Given the description of an element on the screen output the (x, y) to click on. 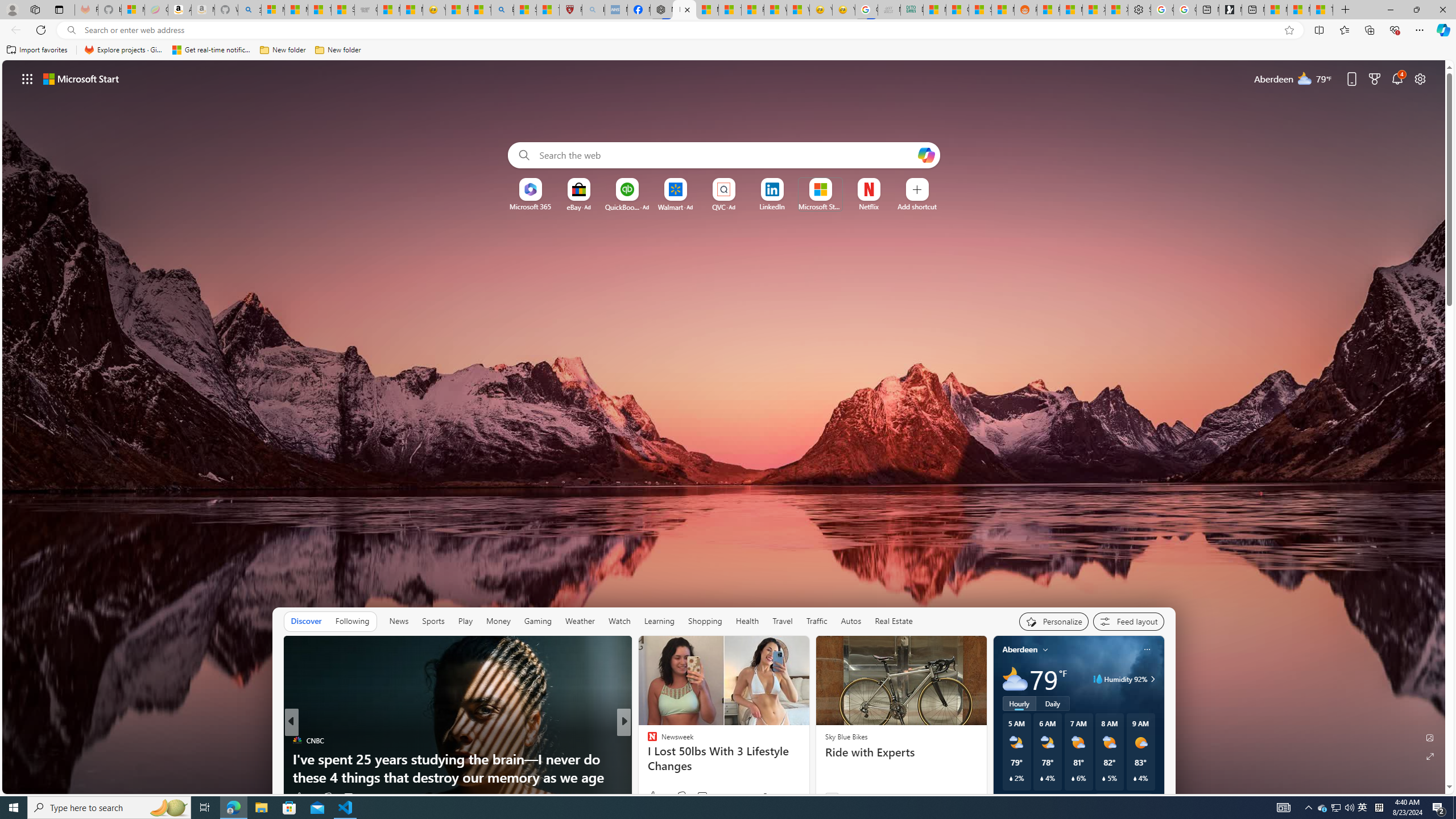
Mostly cloudy (1014, 678)
View comments 97 Comment (347, 797)
View comments 5 Comment (698, 797)
78 Like (652, 796)
